Given the description of an element on the screen output the (x, y) to click on. 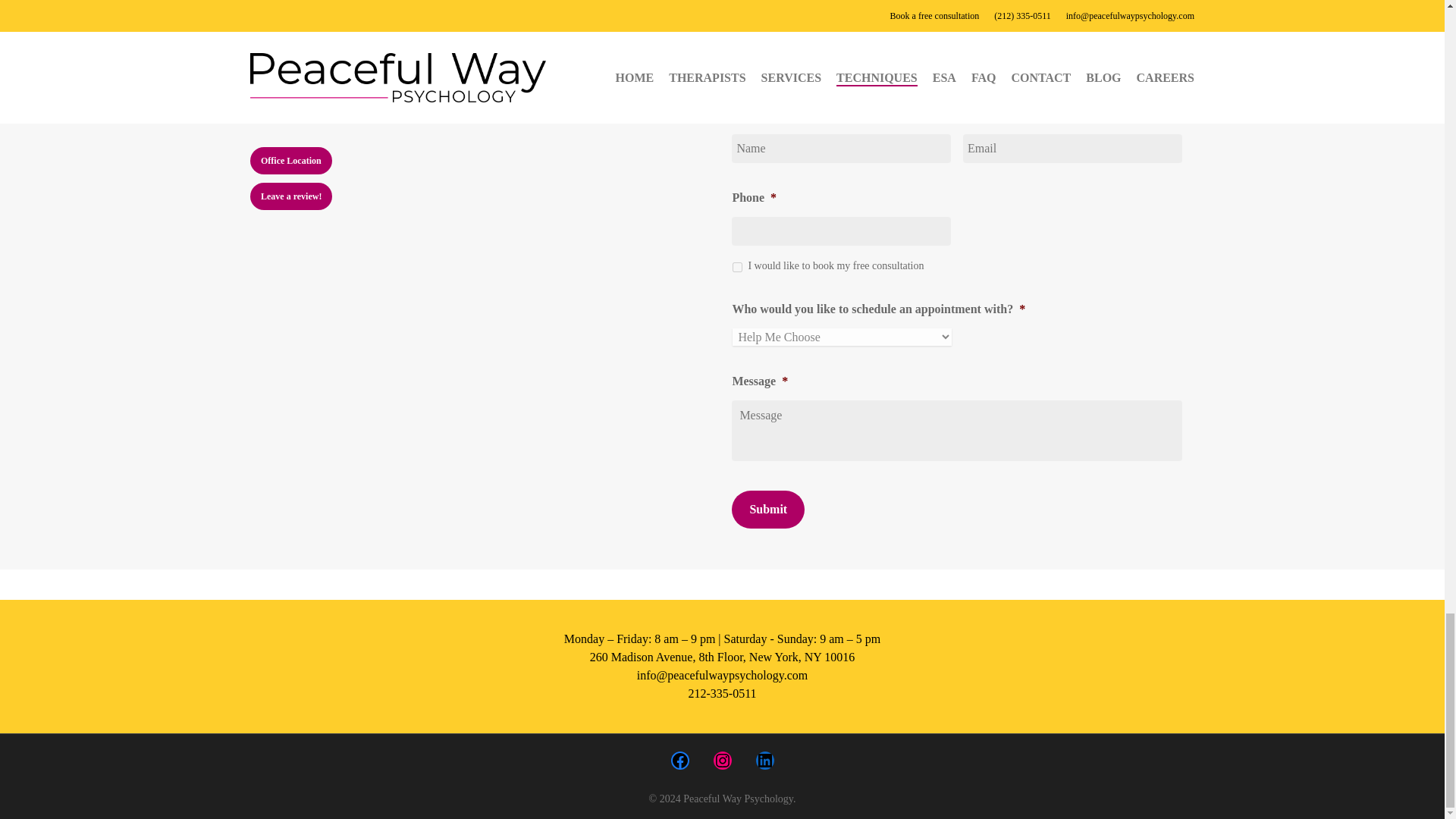
LinkedIn (764, 760)
Submit (768, 509)
Leave a review! (290, 195)
Submit (768, 509)
Facebook (678, 760)
212-335-0511 (721, 693)
First Choice (737, 266)
Instagram (721, 760)
Office Location (290, 160)
